Given the description of an element on the screen output the (x, y) to click on. 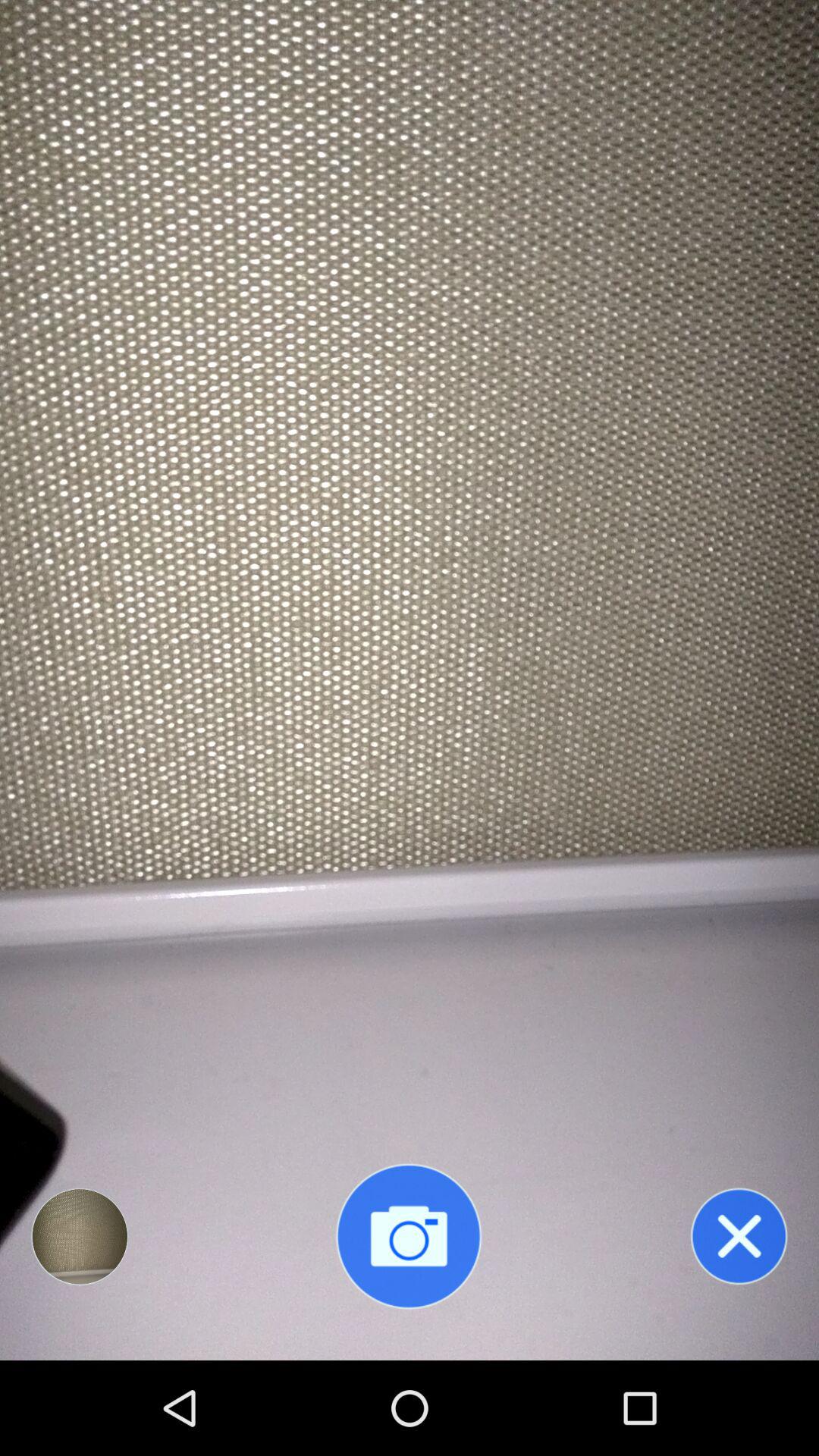
go to camera (408, 1236)
